Given the description of an element on the screen output the (x, y) to click on. 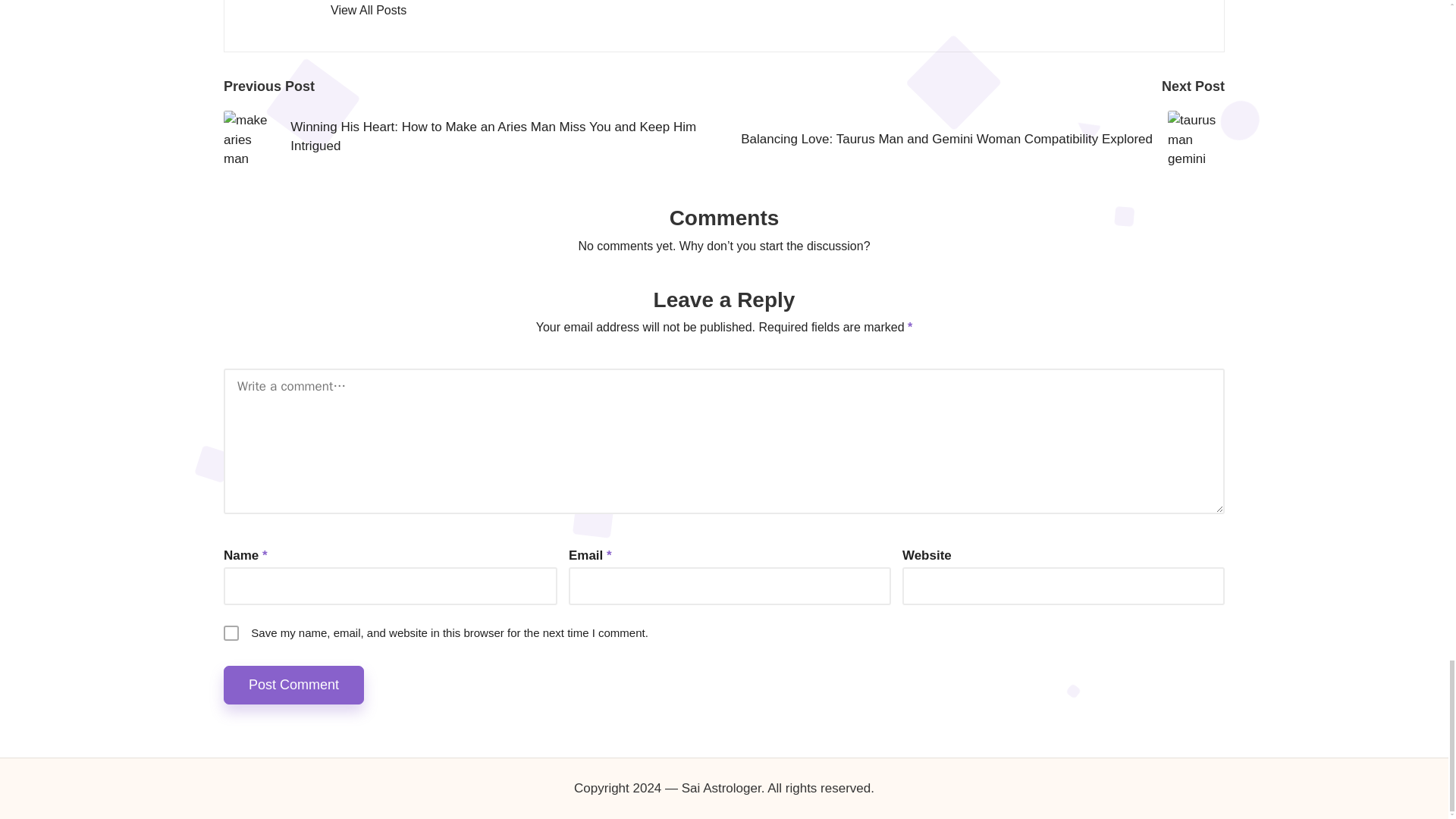
yes (231, 632)
Post Comment (294, 684)
